Given the description of an element on the screen output the (x, y) to click on. 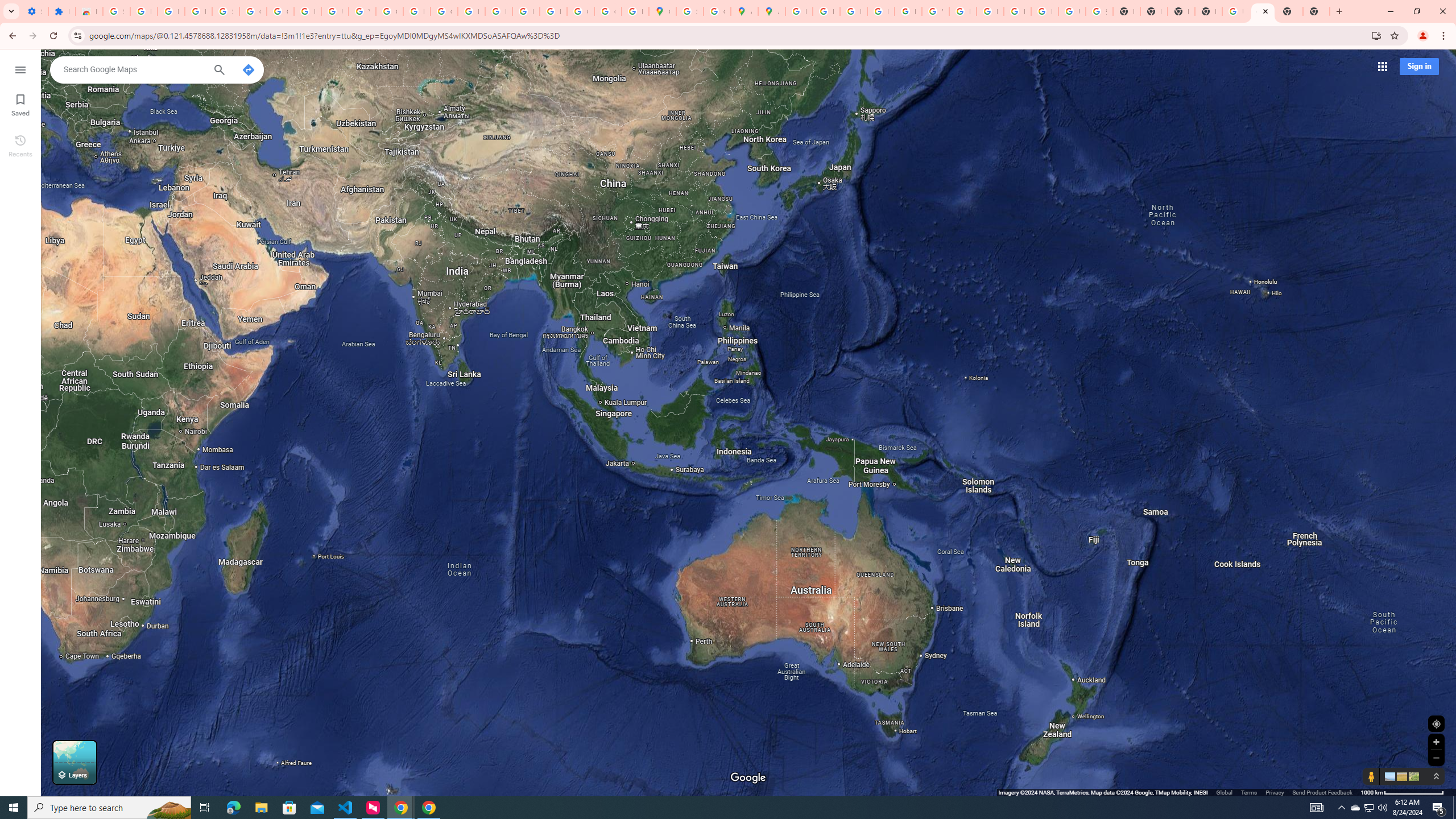
Extensions (61, 11)
Restore (1416, 11)
Reviews: Helix Fruit Jump Arcade Game (88, 11)
Send Product Feedback (1322, 792)
Bookmark this tab (1393, 35)
